Given the description of an element on the screen output the (x, y) to click on. 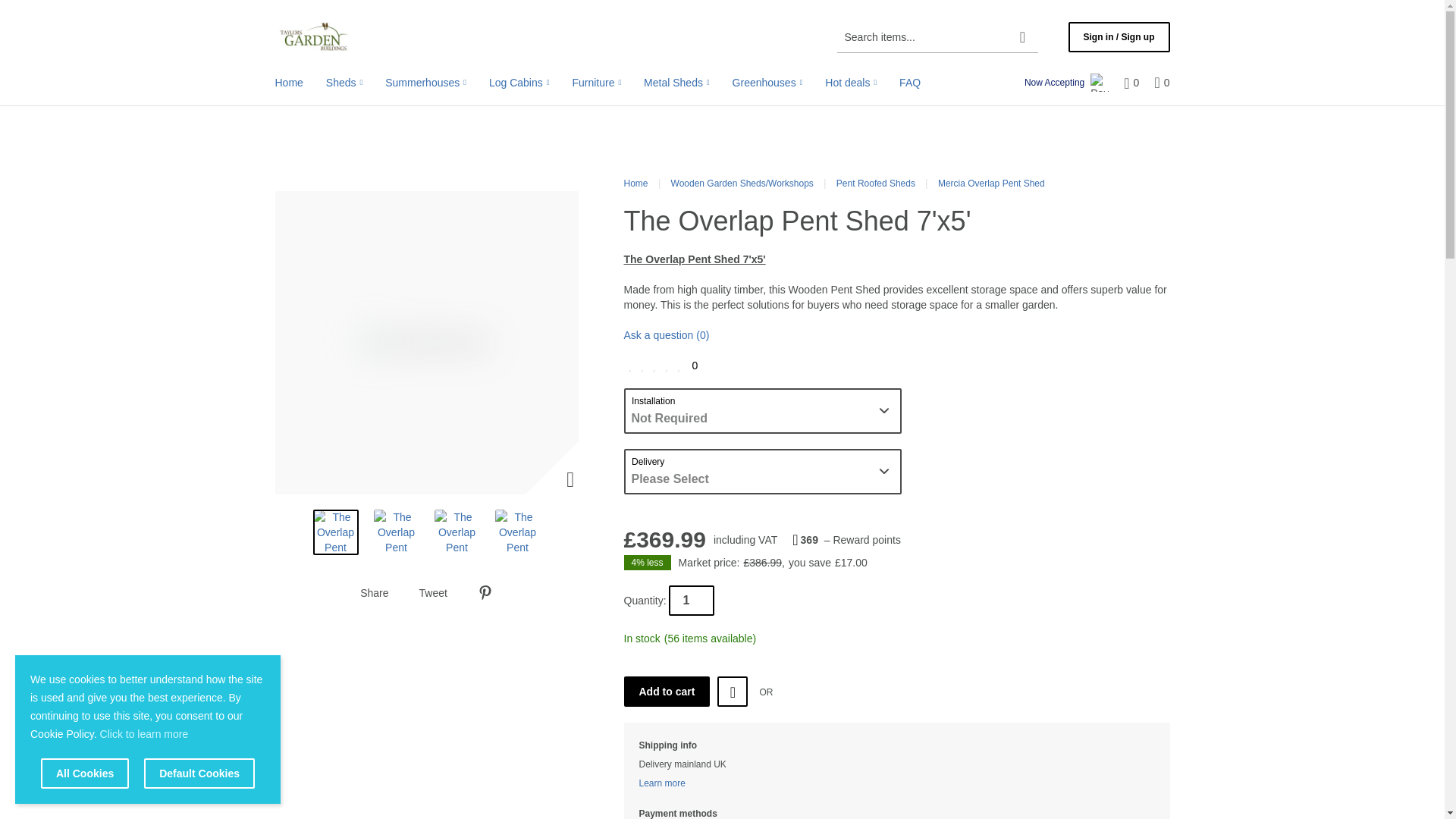
Now Accepting PayPal (1066, 82)
The Overlap Pent Shed (335, 532)
The Overlap Pent Shed (395, 532)
Garden Buildings, Sheds, Summerhouse, Log Cabins (315, 36)
The Overlap Pent Shed (456, 532)
The Overlap Pent Shed (517, 532)
Buy this product and earn up to 369 reward points. (846, 539)
1 (691, 600)
